Given the description of an element on the screen output the (x, y) to click on. 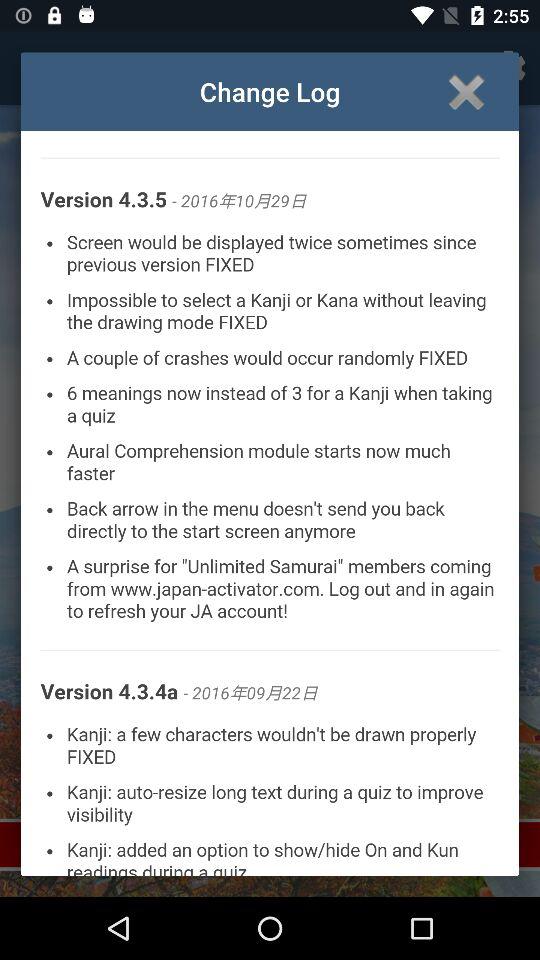
close the page (466, 91)
